Given the description of an element on the screen output the (x, y) to click on. 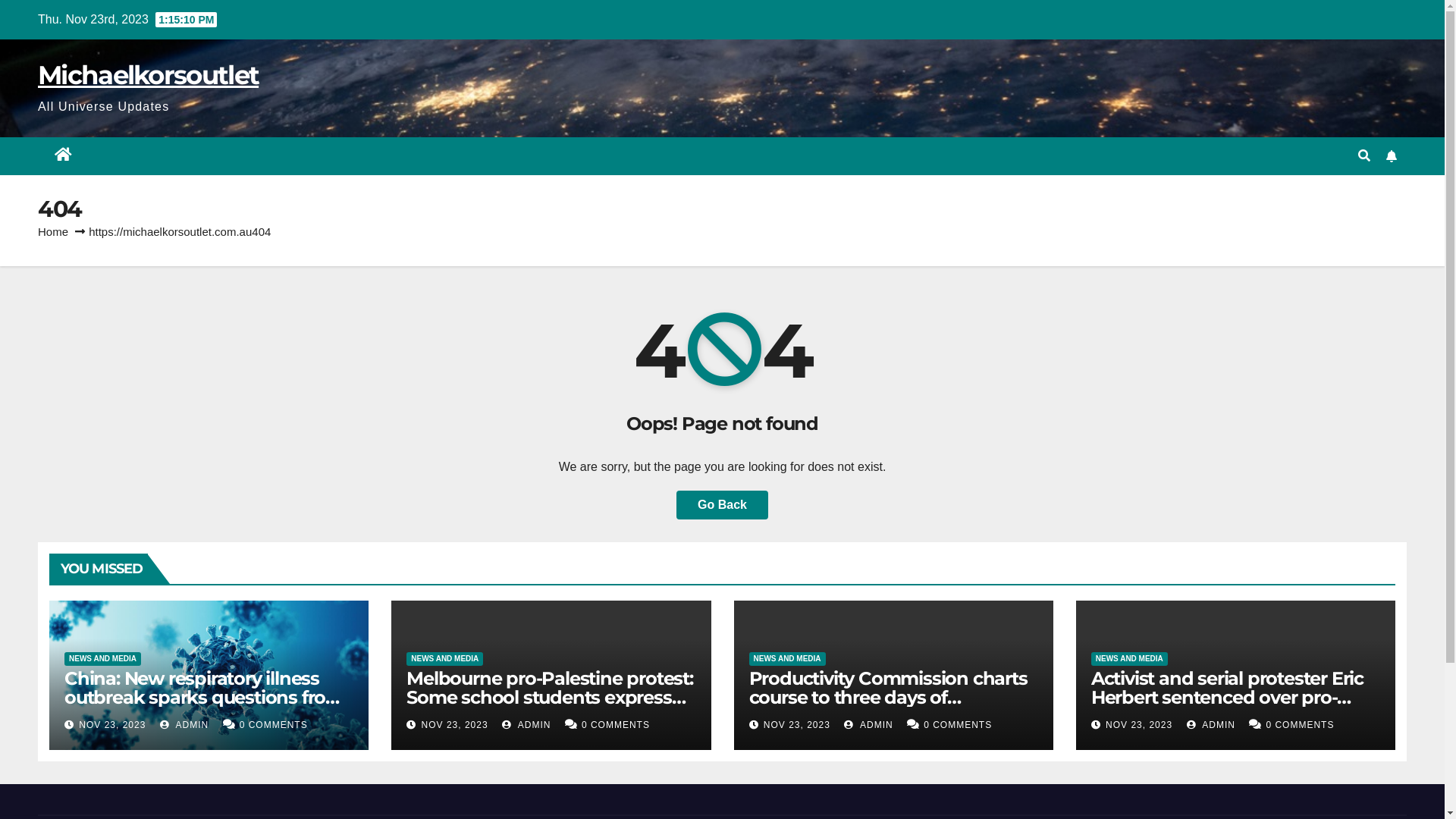
0 COMMENTS Element type: text (273, 724)
Home Element type: text (52, 231)
Go Back Element type: text (722, 504)
ADMIN Element type: text (526, 724)
Michaelkorsoutlet Element type: text (147, 75)
NOV 23, 2023 Element type: text (1138, 724)
0 COMMENTS Element type: text (615, 724)
0 COMMENTS Element type: text (957, 724)
NOV 23, 2023 Element type: text (454, 724)
ADMIN Element type: text (868, 724)
NOV 23, 2023 Element type: text (796, 724)
NEWS AND MEDIA Element type: text (1129, 658)
0 COMMENTS Element type: text (1299, 724)
ADMIN Element type: text (184, 724)
ADMIN Element type: text (1210, 724)
NOV 23, 2023 Element type: text (111, 724)
NEWS AND MEDIA Element type: text (444, 658)
NEWS AND MEDIA Element type: text (787, 658)
NEWS AND MEDIA Element type: text (102, 658)
